Given the description of an element on the screen output the (x, y) to click on. 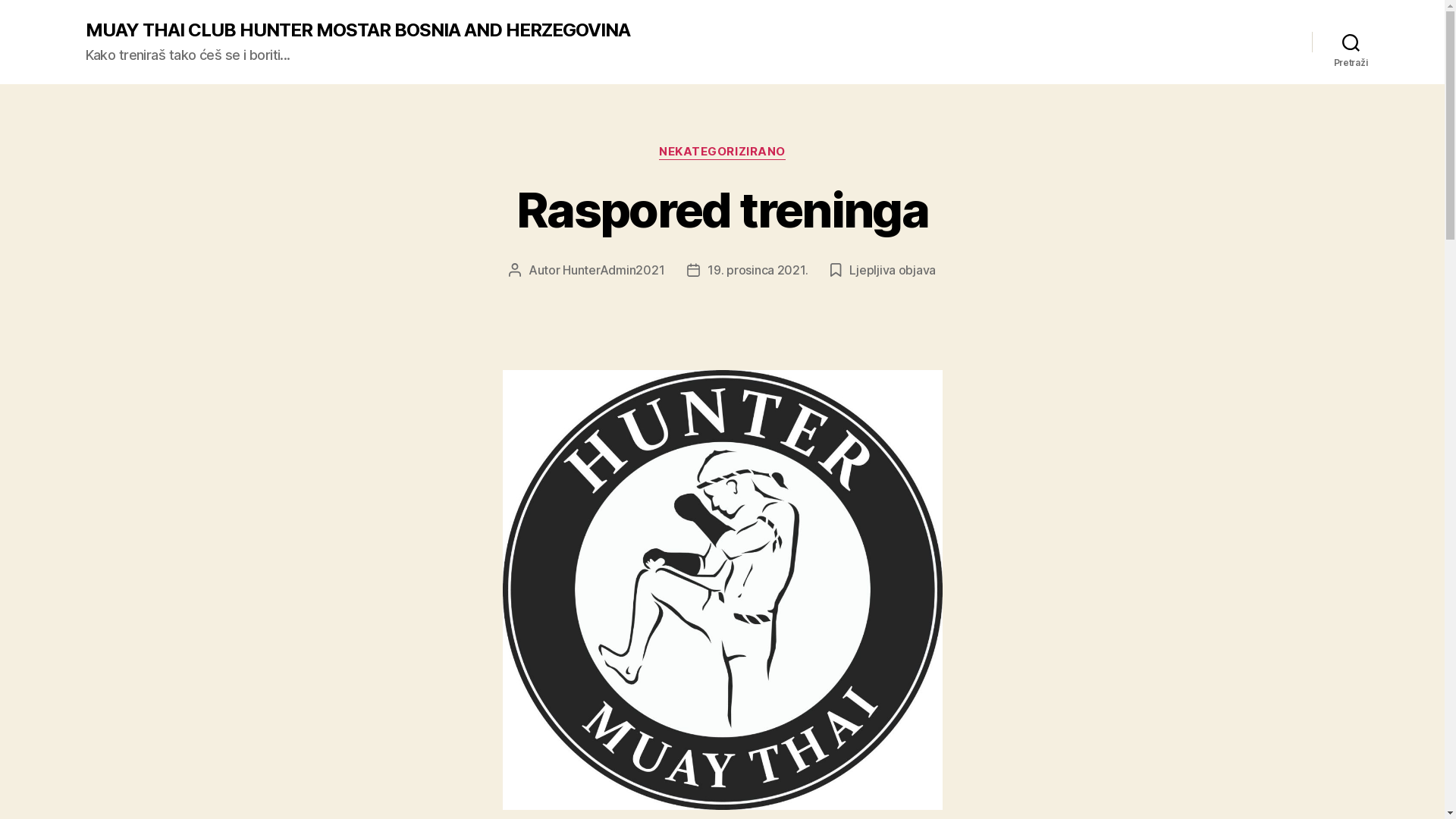
MUAY THAI CLUB HUNTER MOSTAR BOSNIA AND HERZEGOVINA Element type: text (356, 30)
HunterAdmin2021 Element type: text (613, 269)
NEKATEGORIZIRANO Element type: text (721, 152)
19. prosinca 2021. Element type: text (757, 269)
Raspored treninga Element type: text (722, 209)
